Given the description of an element on the screen output the (x, y) to click on. 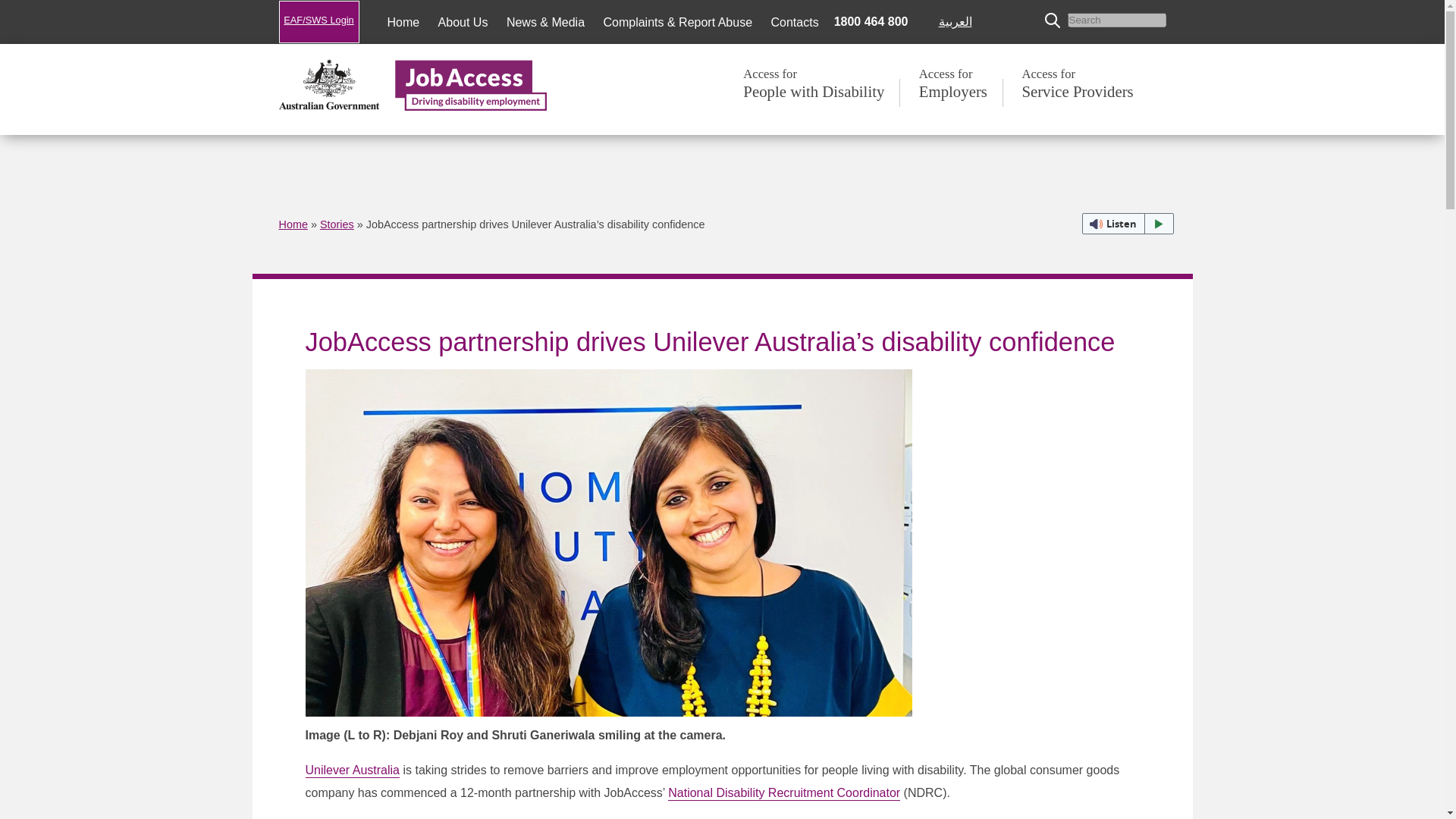
Home (403, 21)
Enter the terms you wish to search for (1116, 20)
About Us (462, 21)
Contacts (794, 21)
